Given the description of an element on the screen output the (x, y) to click on. 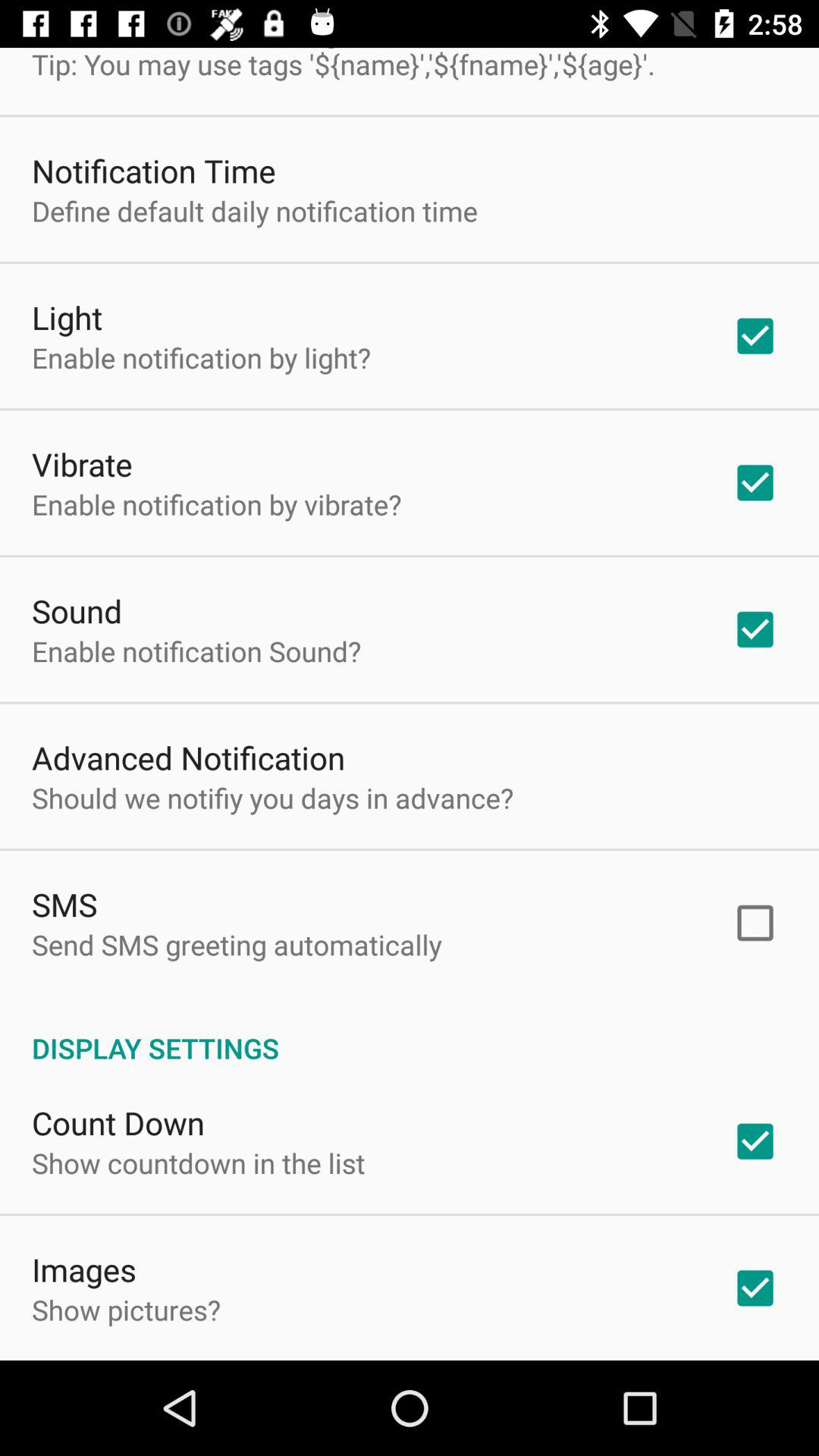
open icon below the images app (125, 1309)
